Given the description of an element on the screen output the (x, y) to click on. 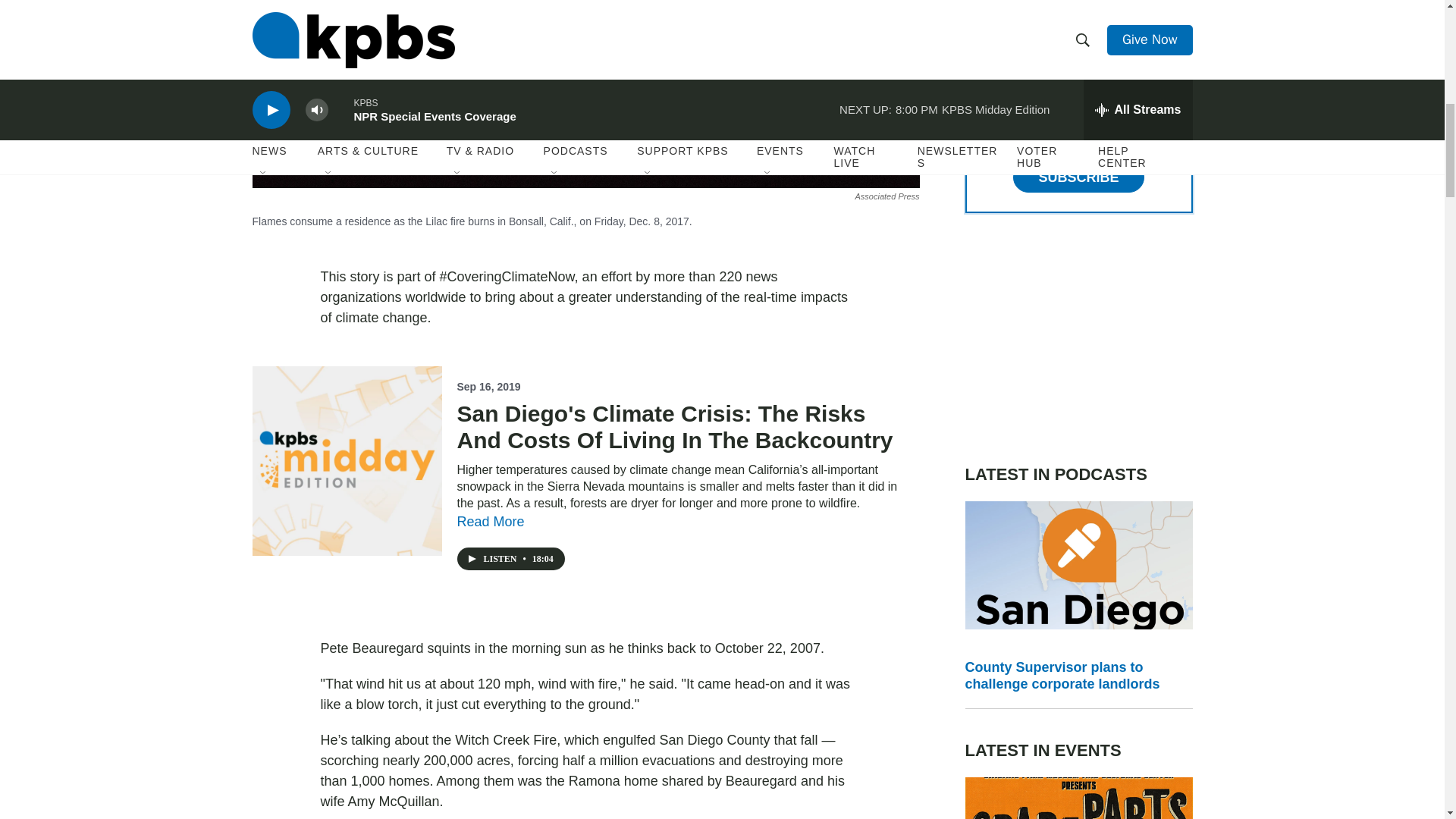
3rd party ad content (1077, 338)
8 (991, 97)
1 (991, 60)
2 (991, 24)
15 (991, 133)
